Given the description of an element on the screen output the (x, y) to click on. 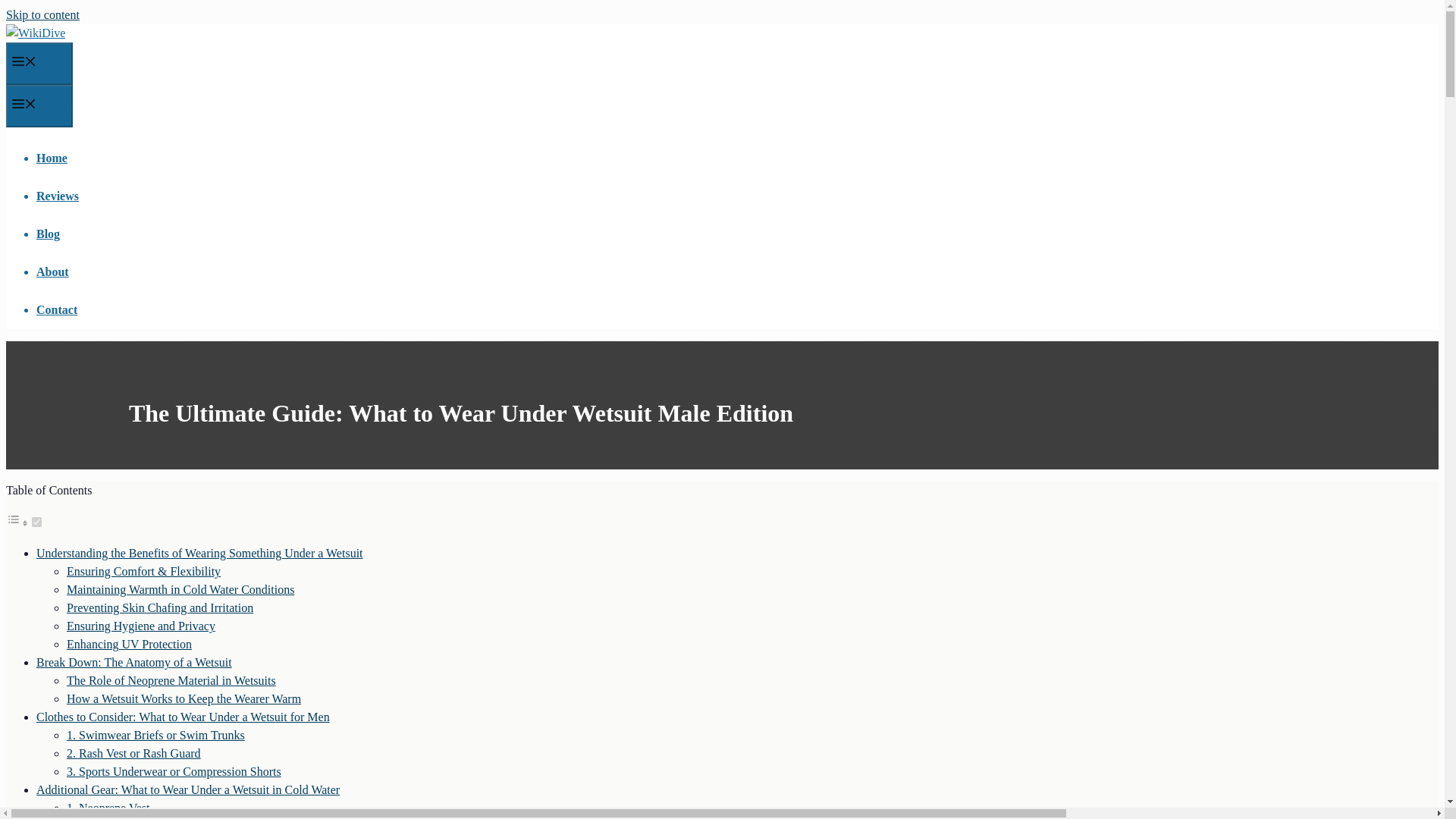
3. Sports Underwear or Compression Shorts (173, 771)
Home (51, 157)
Preventing Skin Chafing and Irritation (159, 607)
1. Neoprene Vest (107, 807)
3. Sports Underwear or Compression Shorts (173, 771)
Enhancing UV Protection (129, 644)
on (37, 521)
Clothes to Consider: What to Wear Under a Wetsuit for Men (183, 716)
How a Wetsuit Works to Keep the Wearer Warm (183, 698)
Additional Gear: What to Wear Under a Wetsuit in Cold Water (187, 789)
Ensuring Hygiene and Privacy (140, 625)
Additional Gear: What to Wear Under a Wetsuit in Cold Water (187, 789)
Break Down: The Anatomy of a Wetsuit (133, 662)
1. Neoprene Vest (107, 807)
Skip to content (42, 14)
